Given the description of an element on the screen output the (x, y) to click on. 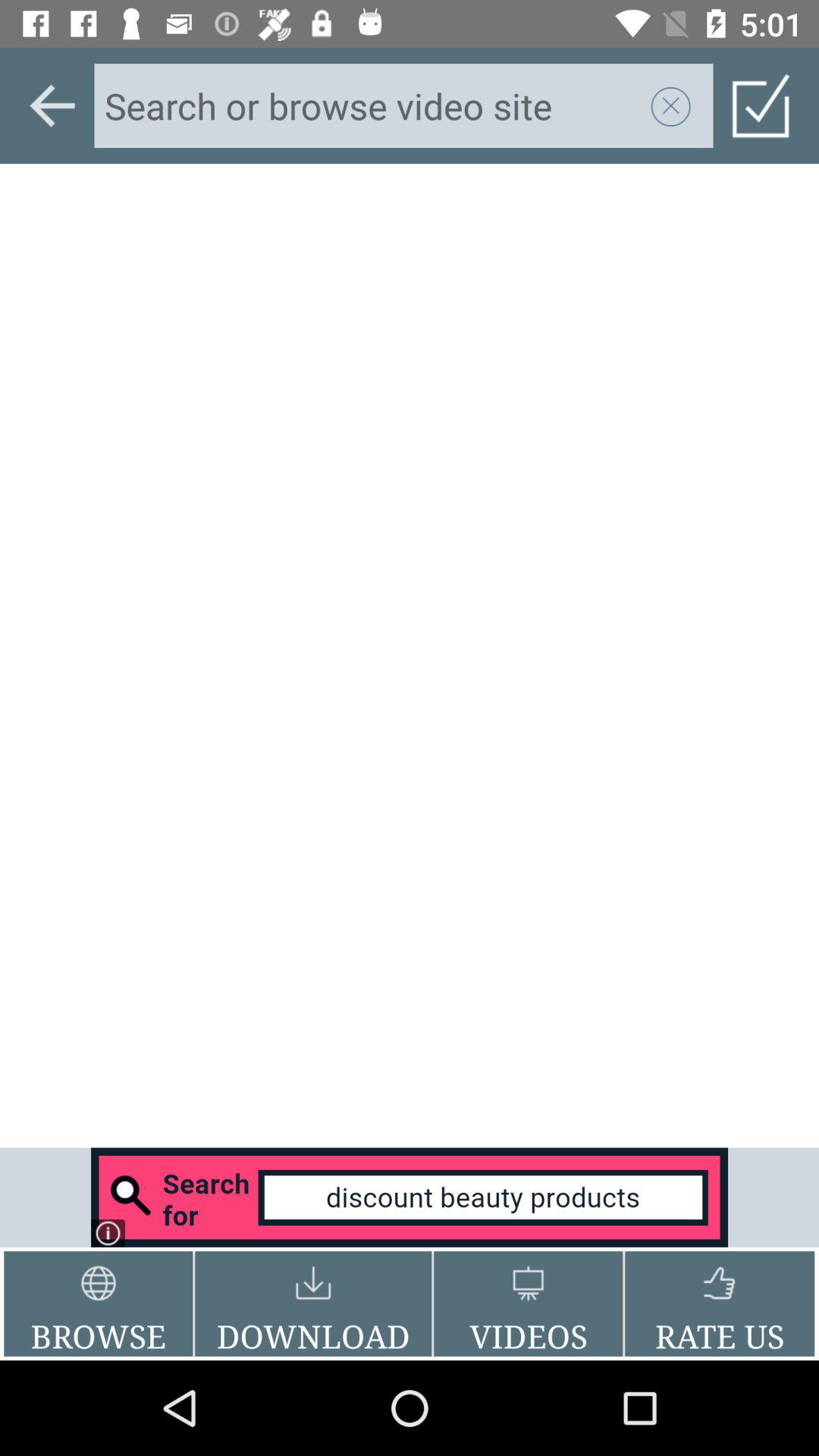
flip until the download (313, 1303)
